Given the description of an element on the screen output the (x, y) to click on. 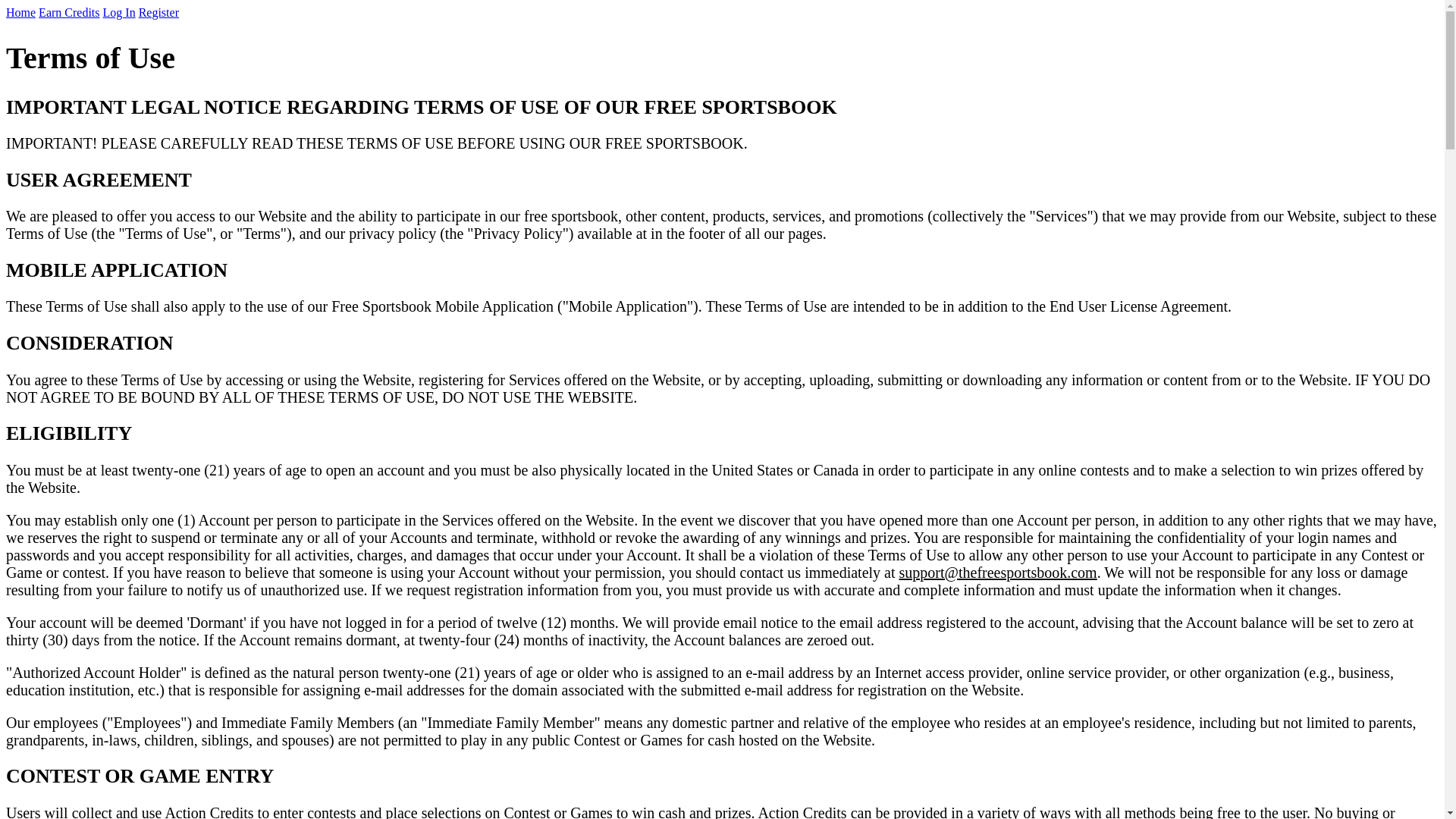
support@thefreesportsbook.com Element type: text (998, 572)
Home Element type: text (20, 12)
Earn Credits Element type: text (68, 12)
Log In Element type: text (119, 12)
Register Element type: text (158, 12)
